Given the description of an element on the screen output the (x, y) to click on. 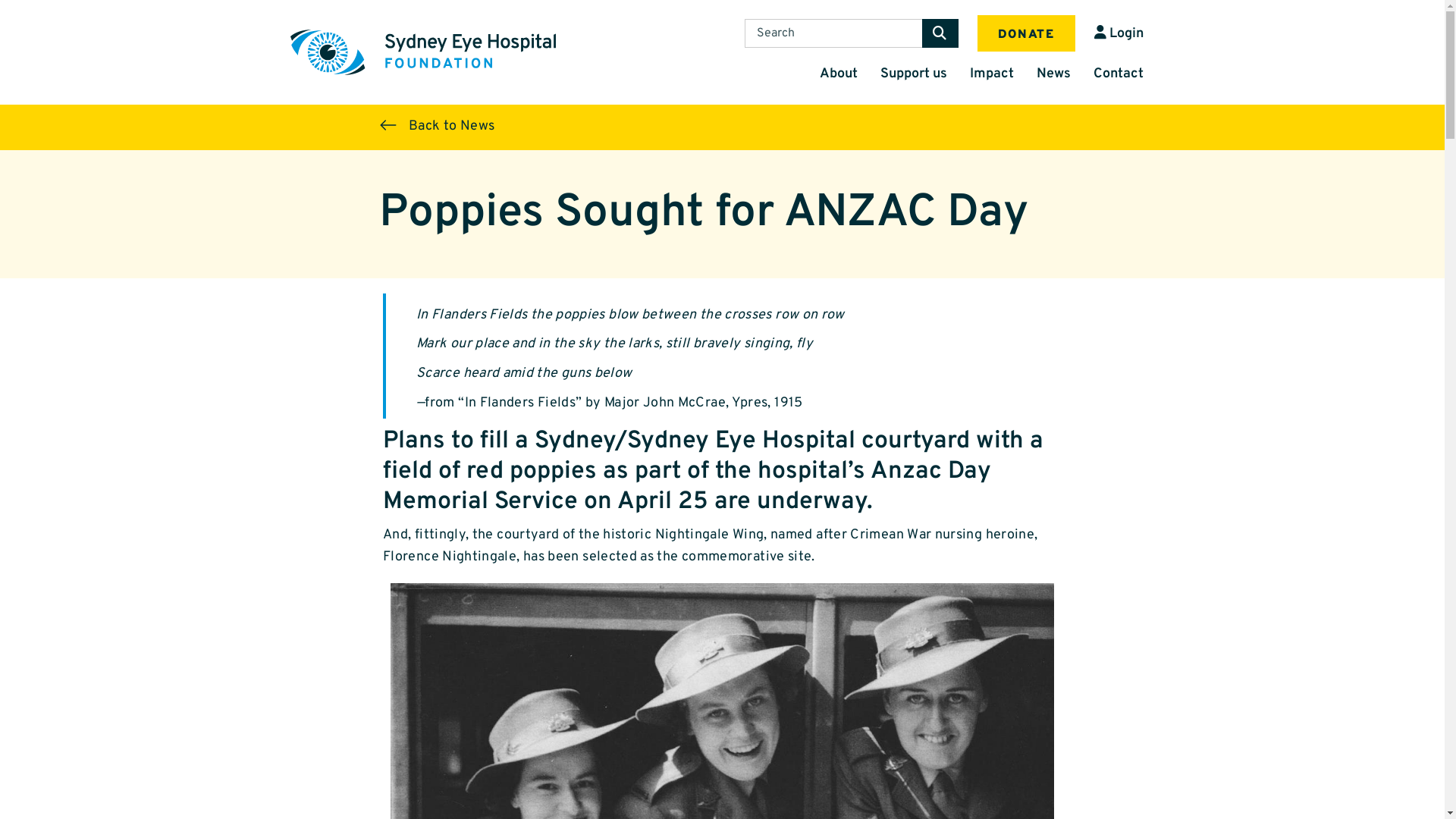
Login Element type: text (1116, 33)
About Element type: text (838, 74)
News Element type: text (1053, 74)
Contact Element type: text (1117, 74)
Impact Element type: text (991, 74)
DONATE Element type: text (1026, 33)
Back to News Element type: text (429, 125)
Support us Element type: text (913, 74)
